Given the description of an element on the screen output the (x, y) to click on. 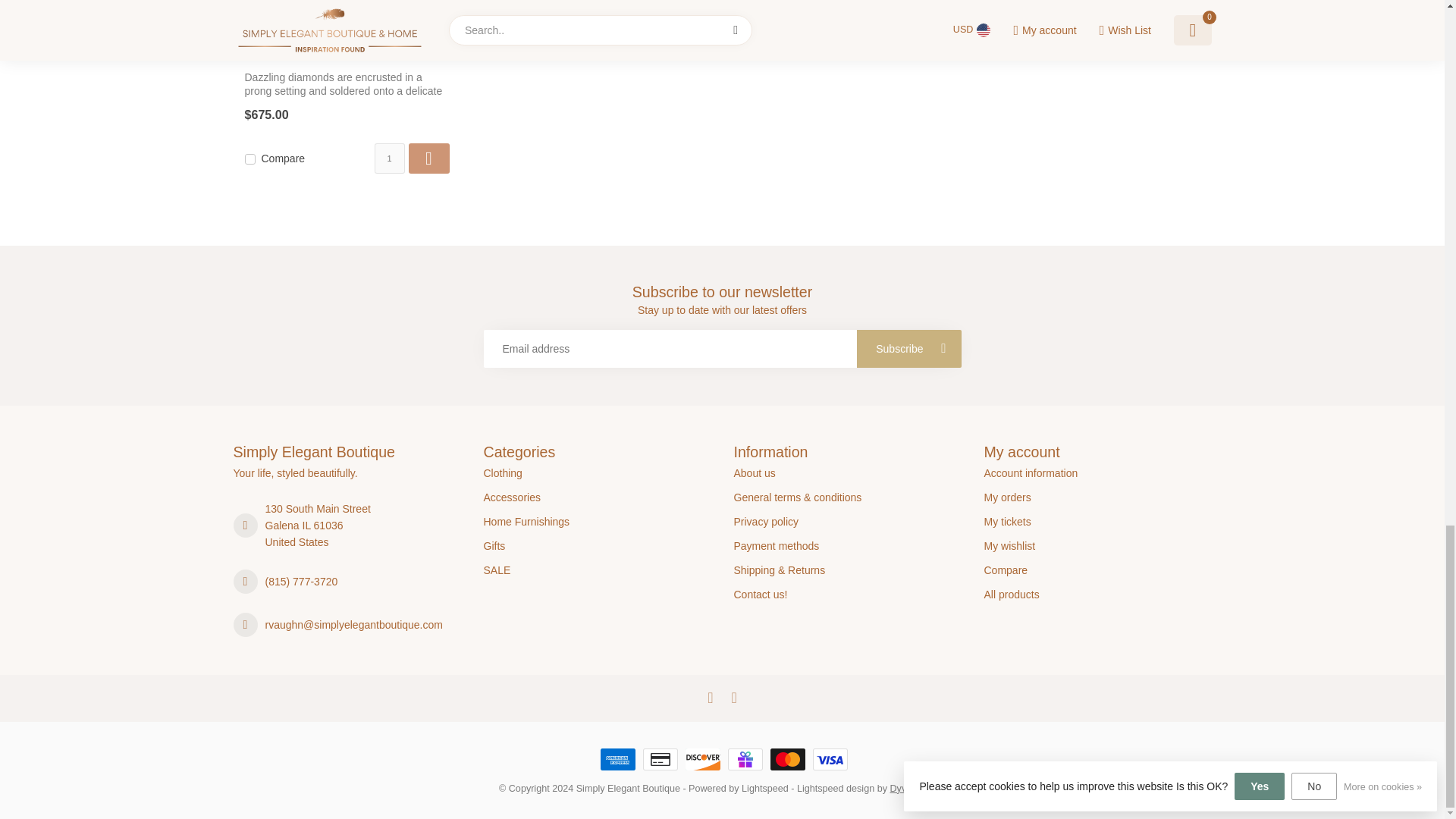
Privacy policy (846, 521)
Compare (1097, 569)
Payment methods (846, 545)
1 (389, 158)
My wishlist (1097, 545)
My orders (1097, 497)
Account information (1097, 473)
Contact us! (846, 594)
My tickets (1097, 521)
About us (846, 473)
